Given the description of an element on the screen output the (x, y) to click on. 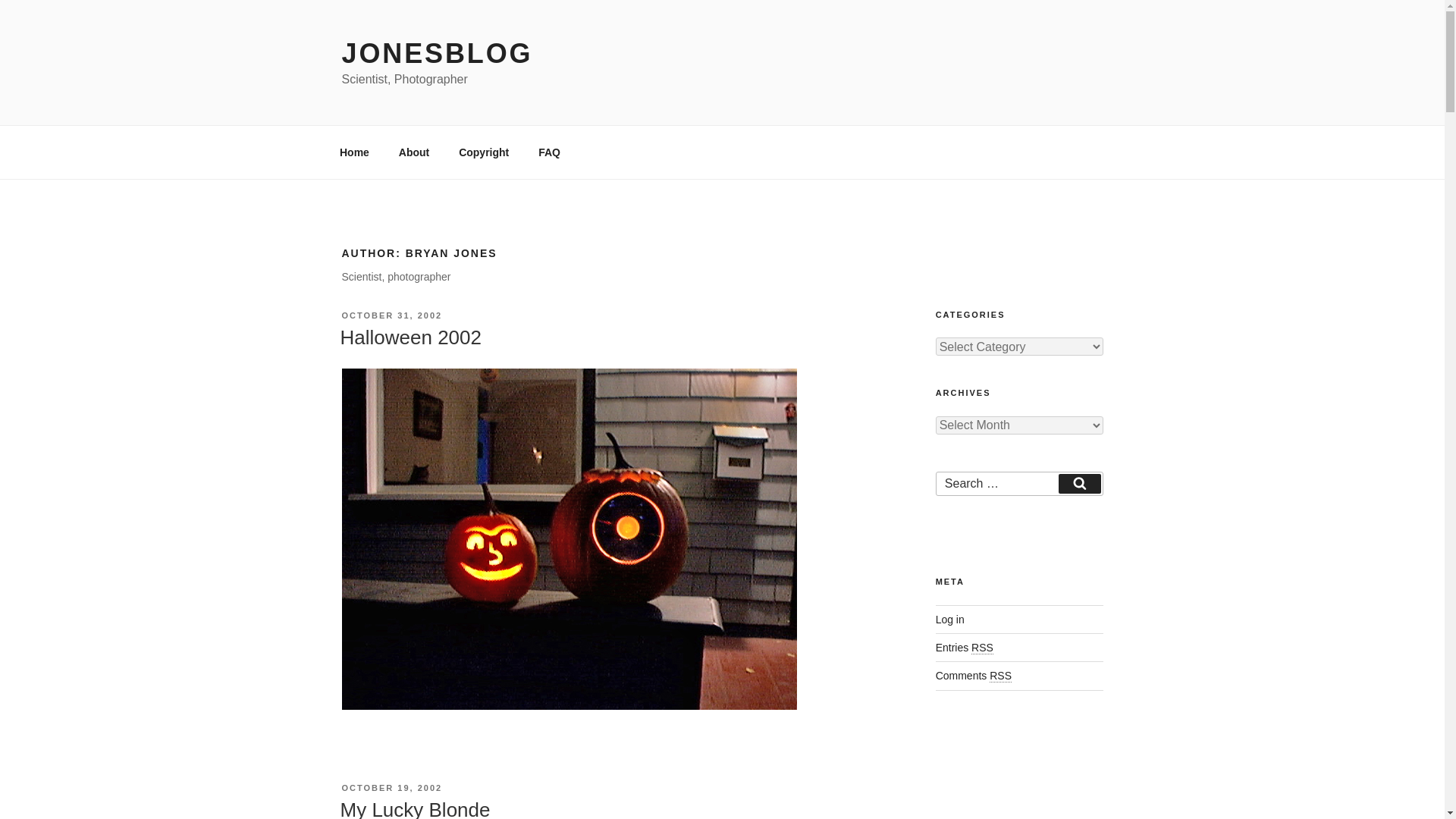
Copyright (483, 151)
Halloween 2002 (409, 336)
The latest comments to all posts in RSS (973, 675)
OCTOBER 19, 2002 (391, 787)
Really Simple Syndication (1000, 675)
Syndicate this site using RSS 2.0 (964, 647)
JONESBLOG (436, 52)
OCTOBER 31, 2002 (391, 315)
FAQ (549, 151)
Really Simple Syndication (981, 647)
Home (353, 151)
About (413, 151)
My Lucky Blonde (414, 808)
